Given the description of an element on the screen output the (x, y) to click on. 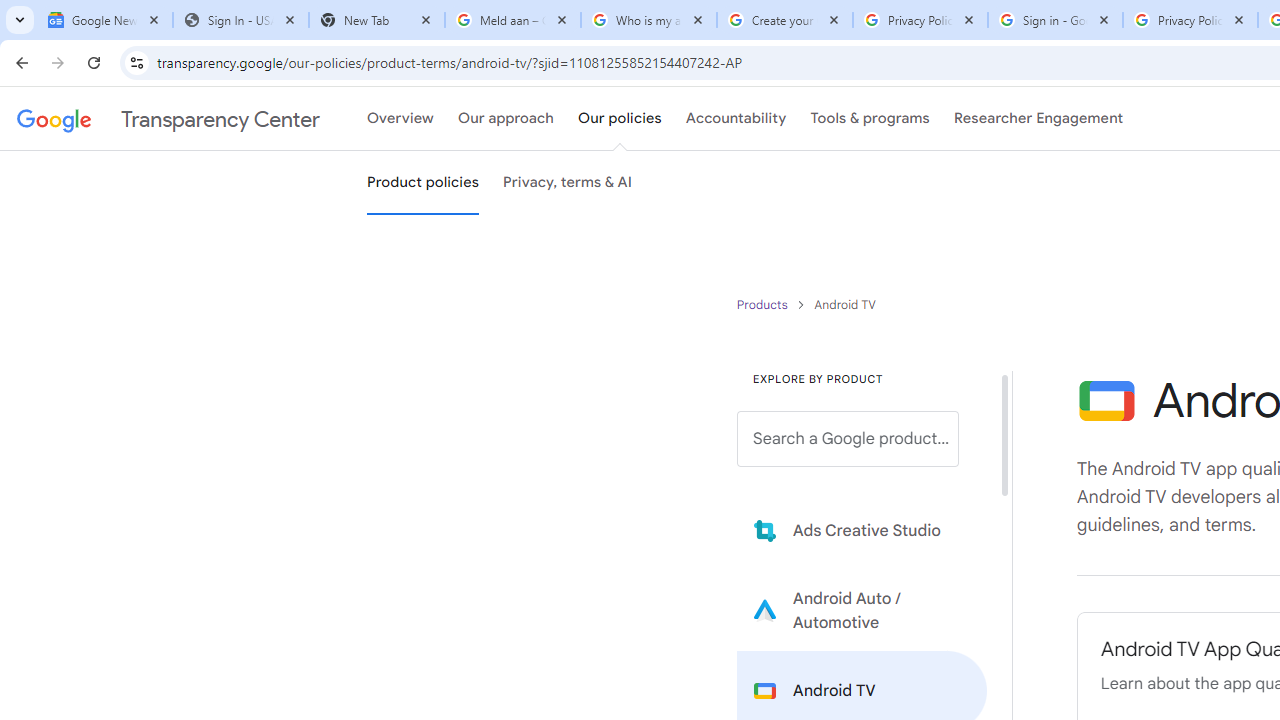
Tools & programs (869, 119)
Researcher Engagement (1038, 119)
